Given the description of an element on the screen output the (x, y) to click on. 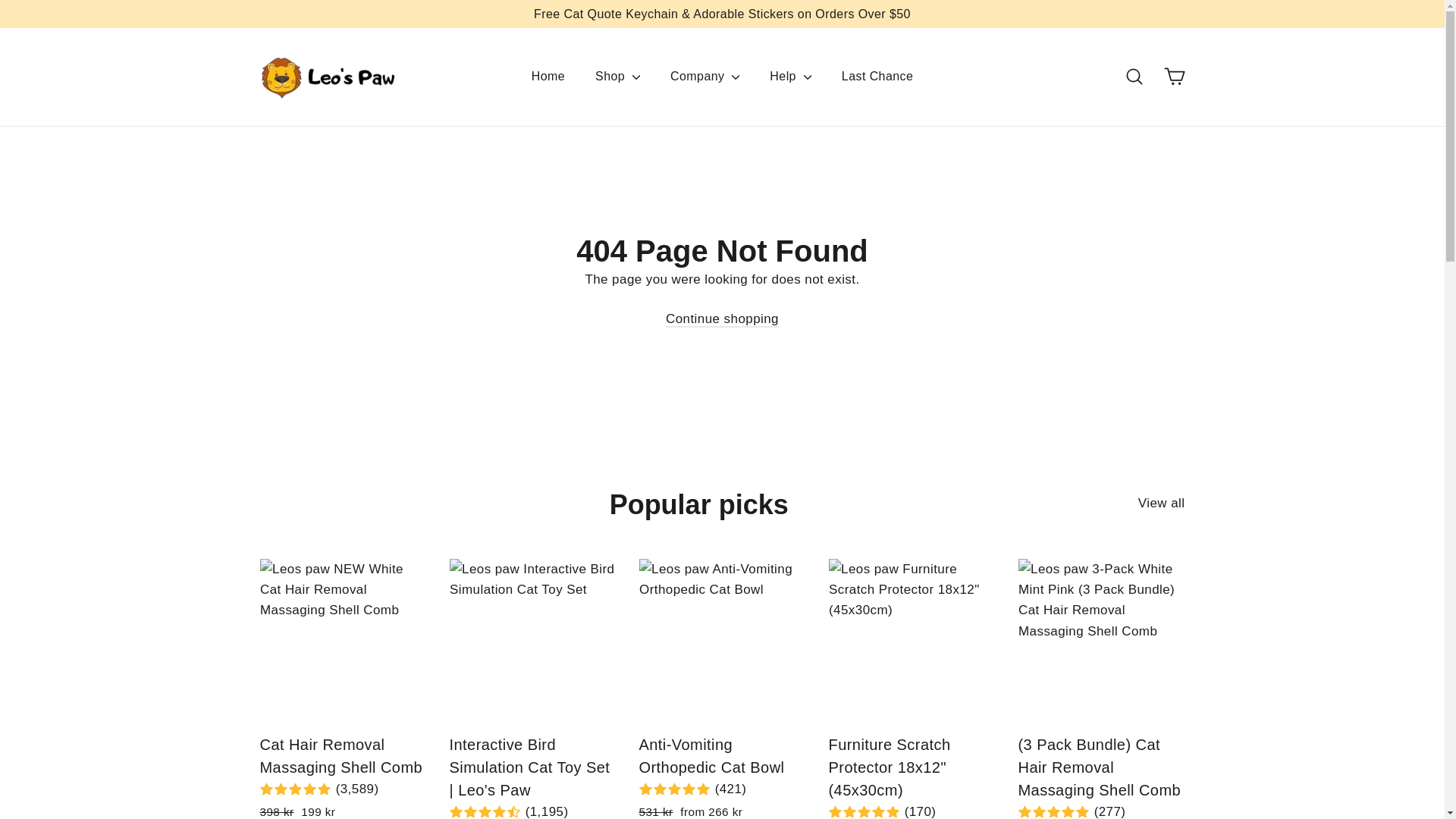
Shop (617, 76)
Home (547, 76)
